Given the description of an element on the screen output the (x, y) to click on. 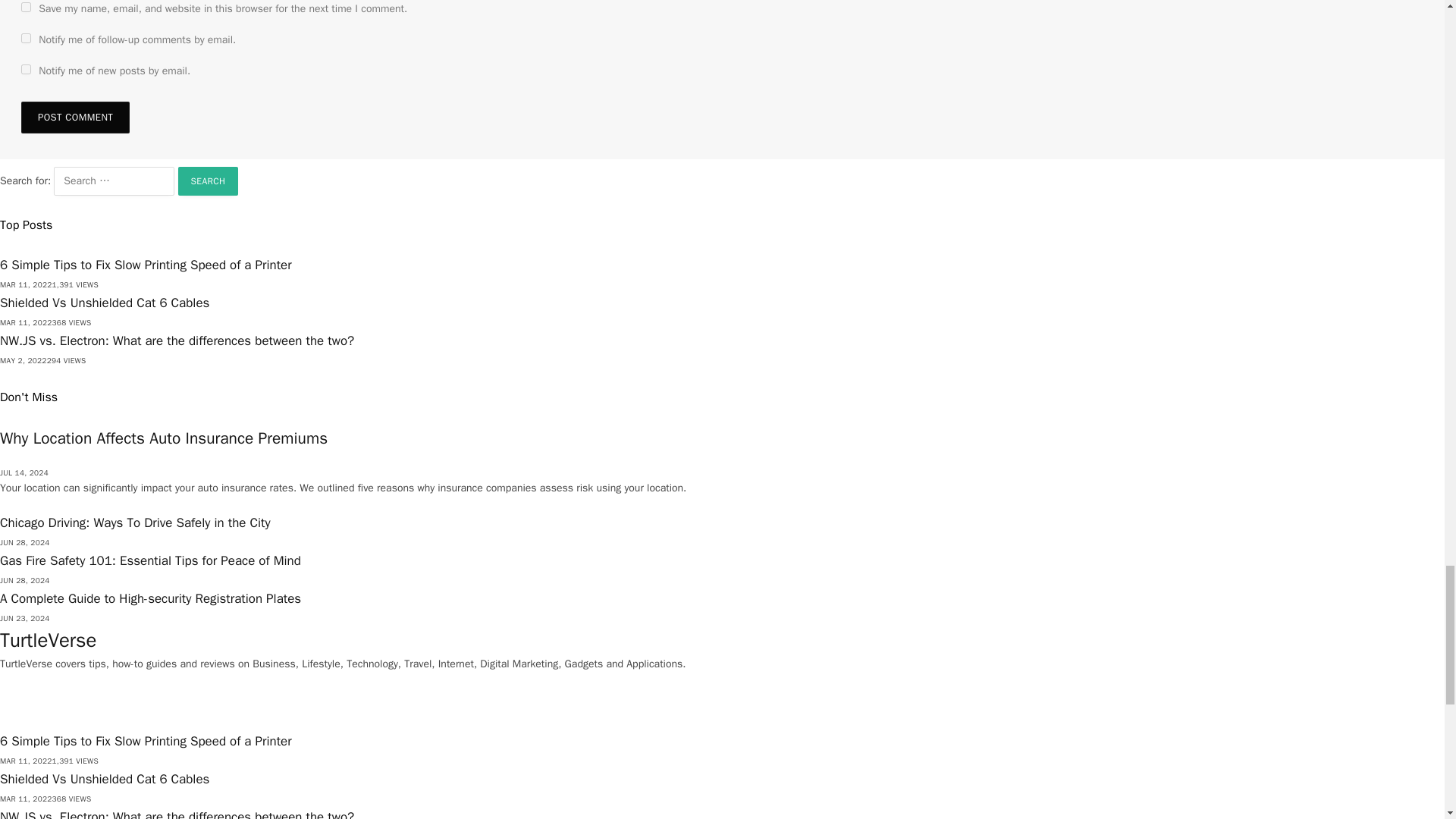
Post Comment (75, 117)
yes (25, 7)
Search (207, 181)
Search (207, 181)
subscribe (25, 69)
subscribe (25, 38)
